Given the description of an element on the screen output the (x, y) to click on. 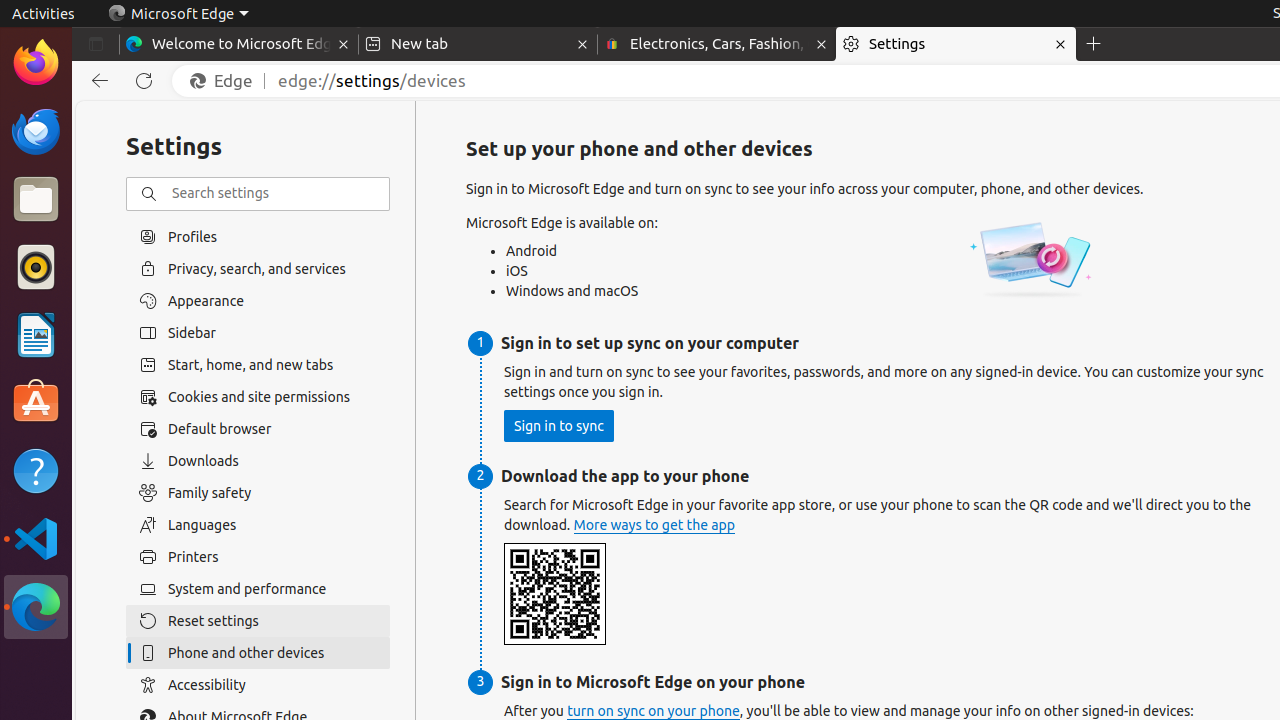
Reset settings Element type: tree-item (258, 621)
Privacy, search, and services Element type: tree-item (258, 268)
System and performance Element type: tree-item (258, 589)
Family safety Element type: tree-item (258, 493)
Back Element type: push-button (96, 81)
